Given the description of an element on the screen output the (x, y) to click on. 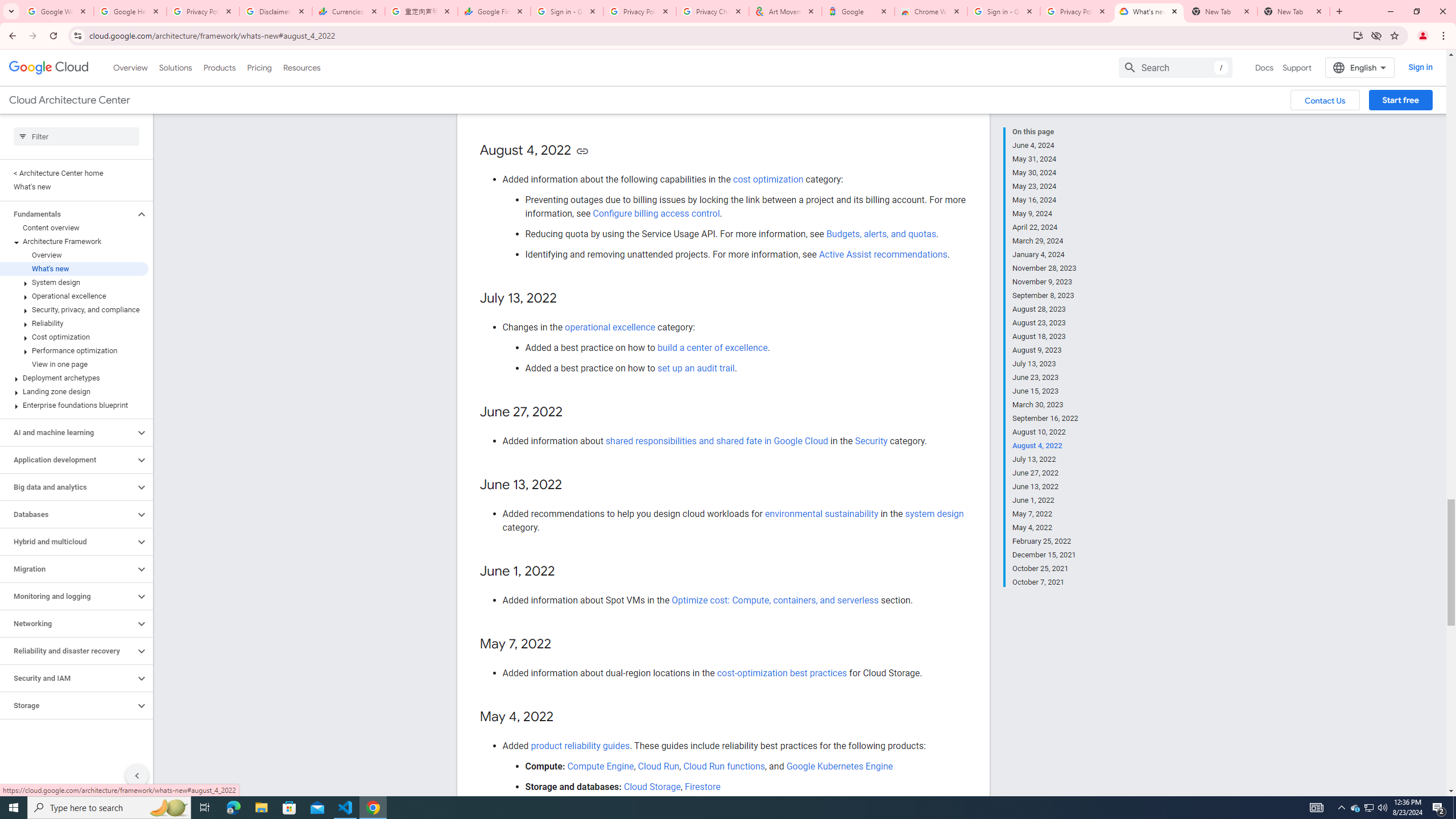
December 15, 2021 (1044, 554)
Copy link to this section: May 4, 2022 (564, 717)
Application development (67, 459)
August 4, 2022 (1044, 445)
June 13, 2022 (1044, 486)
October 7, 2021 (1044, 581)
May 23, 2024 (1044, 186)
September 16, 2022 (1044, 418)
Compute Engine (600, 765)
Landing zone design (74, 391)
Install Google Cloud (1358, 35)
